Given the description of an element on the screen output the (x, y) to click on. 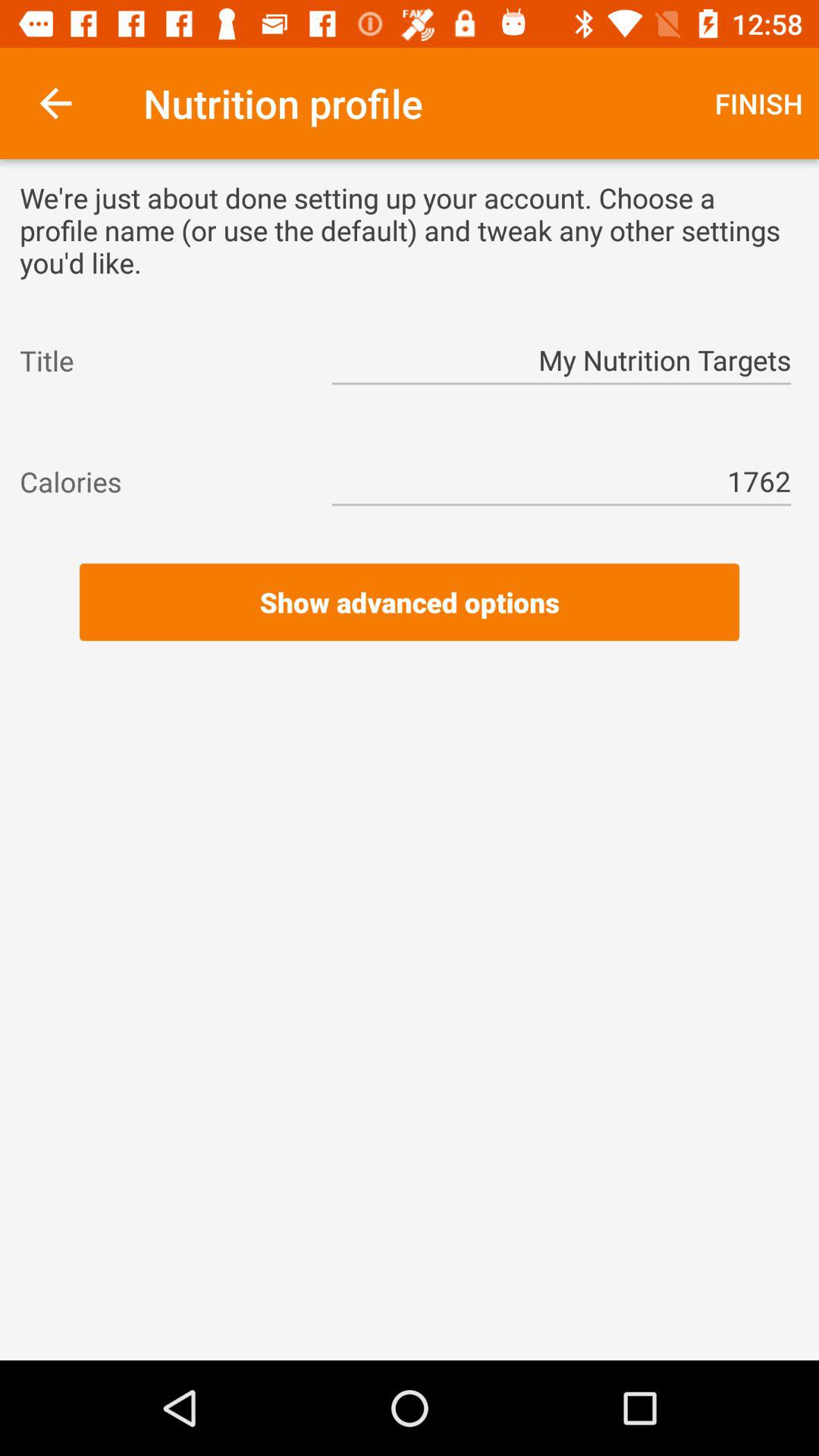
tap my nutrition targets item (561, 360)
